Given the description of an element on the screen output the (x, y) to click on. 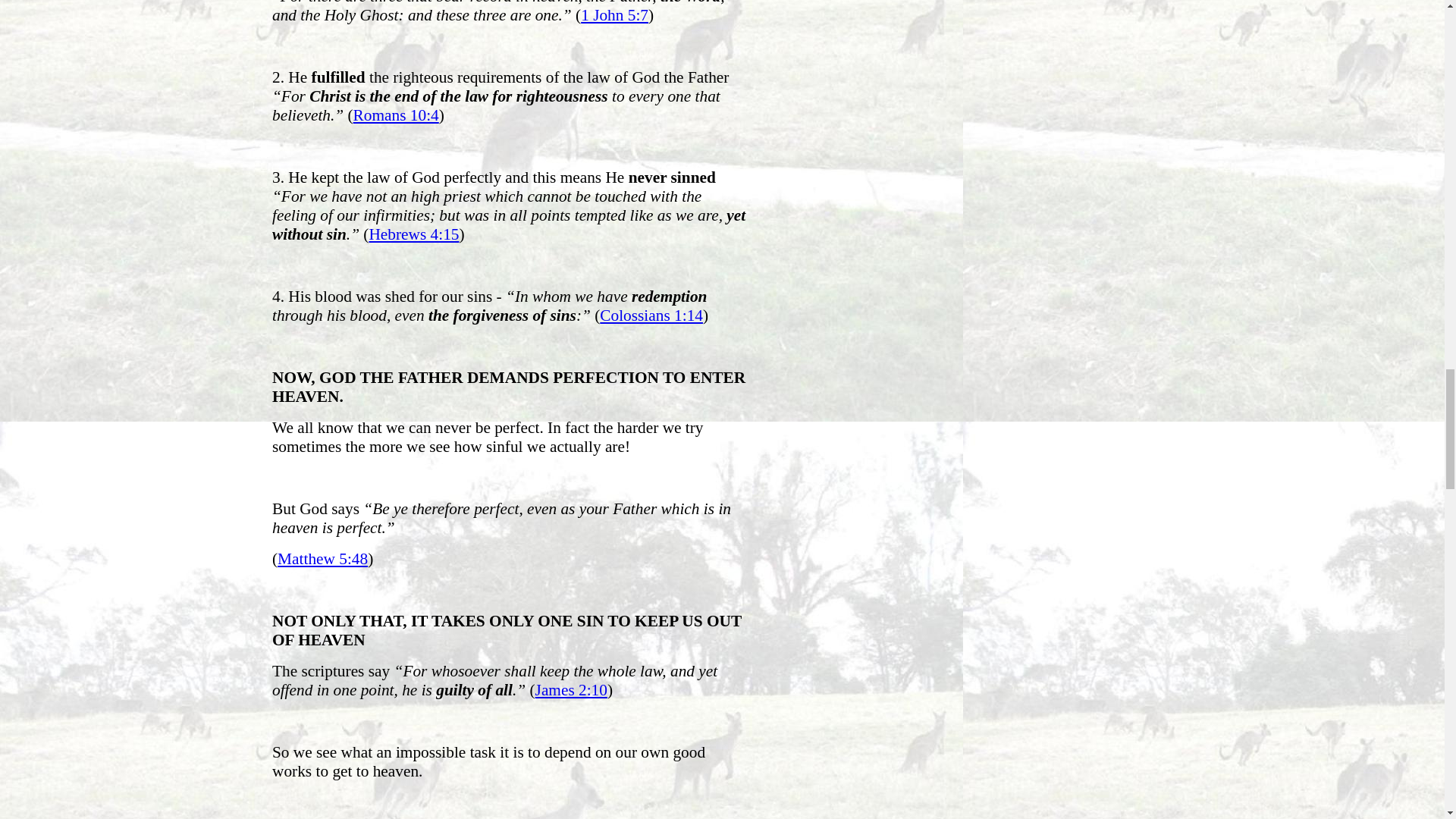
Romans 10:4 (396, 115)
Matthew 5:48 (323, 558)
James 2:10 (571, 689)
1 John 5:7 (613, 14)
Hebrews 4:15 (413, 234)
Colossians 1:14 (651, 315)
